Given the description of an element on the screen output the (x, y) to click on. 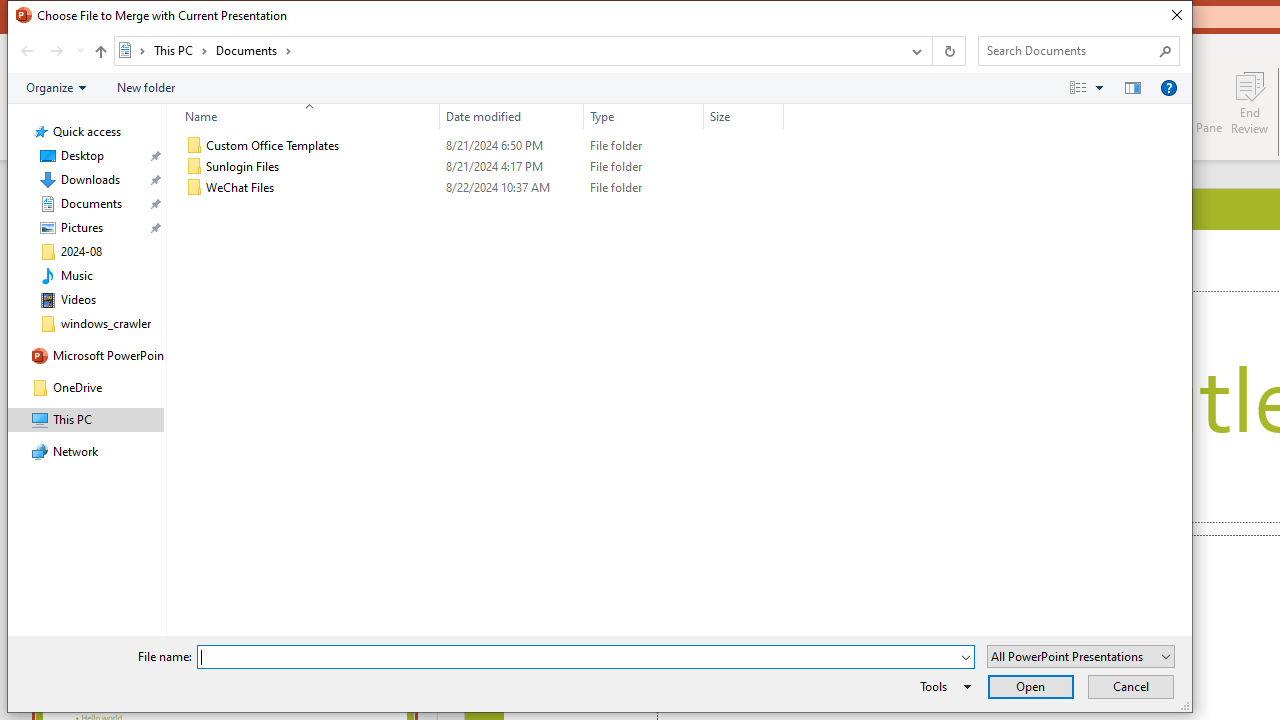
Type (643, 115)
Recent locations (79, 51)
This PC (180, 50)
Organize (56, 87)
Documents (253, 50)
Name (321, 187)
Sunlogin Files (480, 166)
Tools (942, 686)
Custom Office Templates (480, 145)
Class: UIImage (194, 187)
Up band toolbar (100, 54)
Address: Documents (506, 51)
Date modified (511, 115)
Navigation buttons (50, 51)
Name (303, 115)
